Given the description of an element on the screen output the (x, y) to click on. 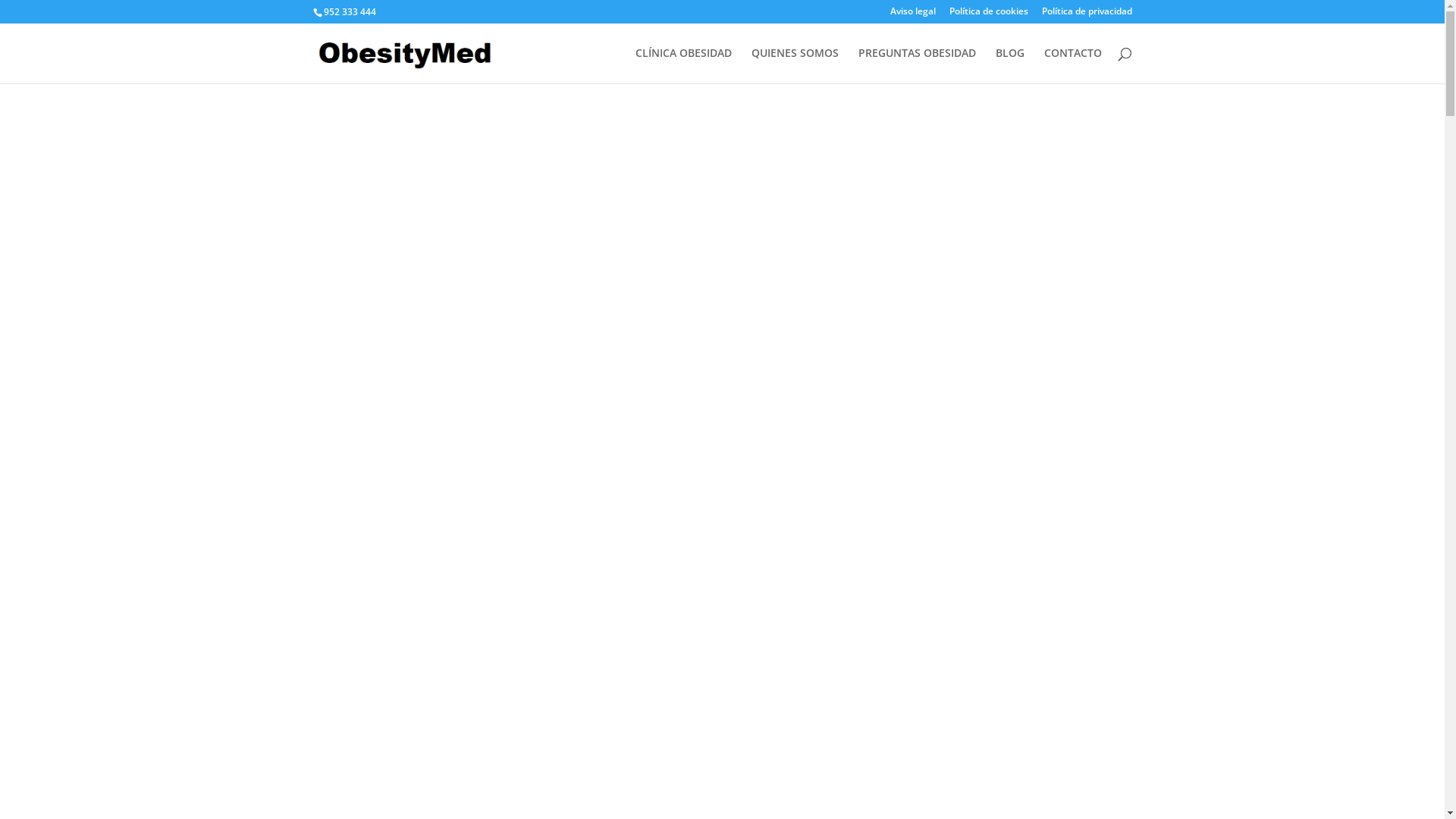
BLOG Element type: text (1008, 65)
PREGUNTAS OBESIDAD Element type: text (916, 65)
CONTACTO Element type: text (1072, 65)
Aviso legal Element type: text (912, 14)
QUIENES SOMOS Element type: text (793, 65)
